Given the description of an element on the screen output the (x, y) to click on. 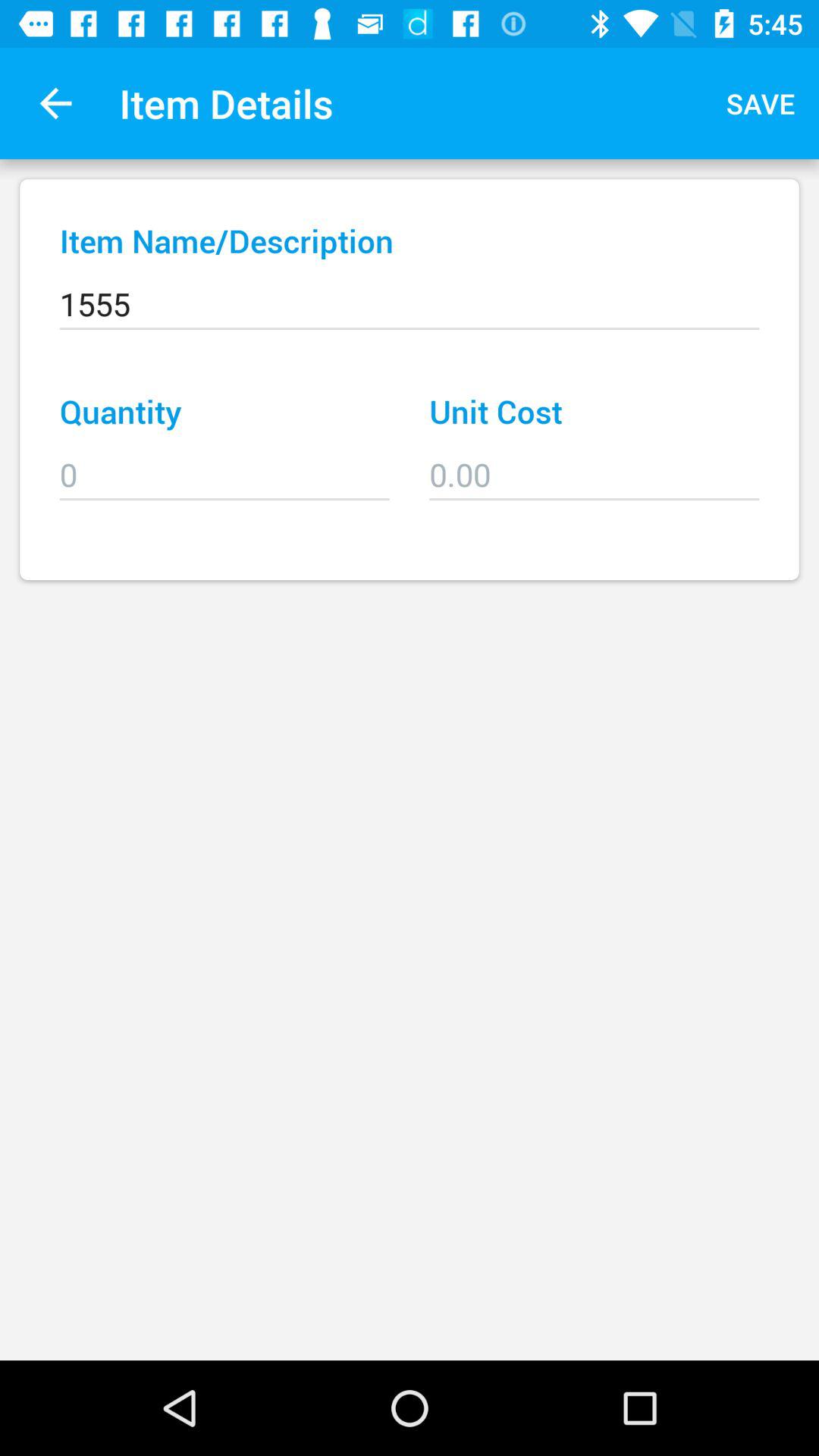
open the icon to the right of quantity item (594, 463)
